Given the description of an element on the screen output the (x, y) to click on. 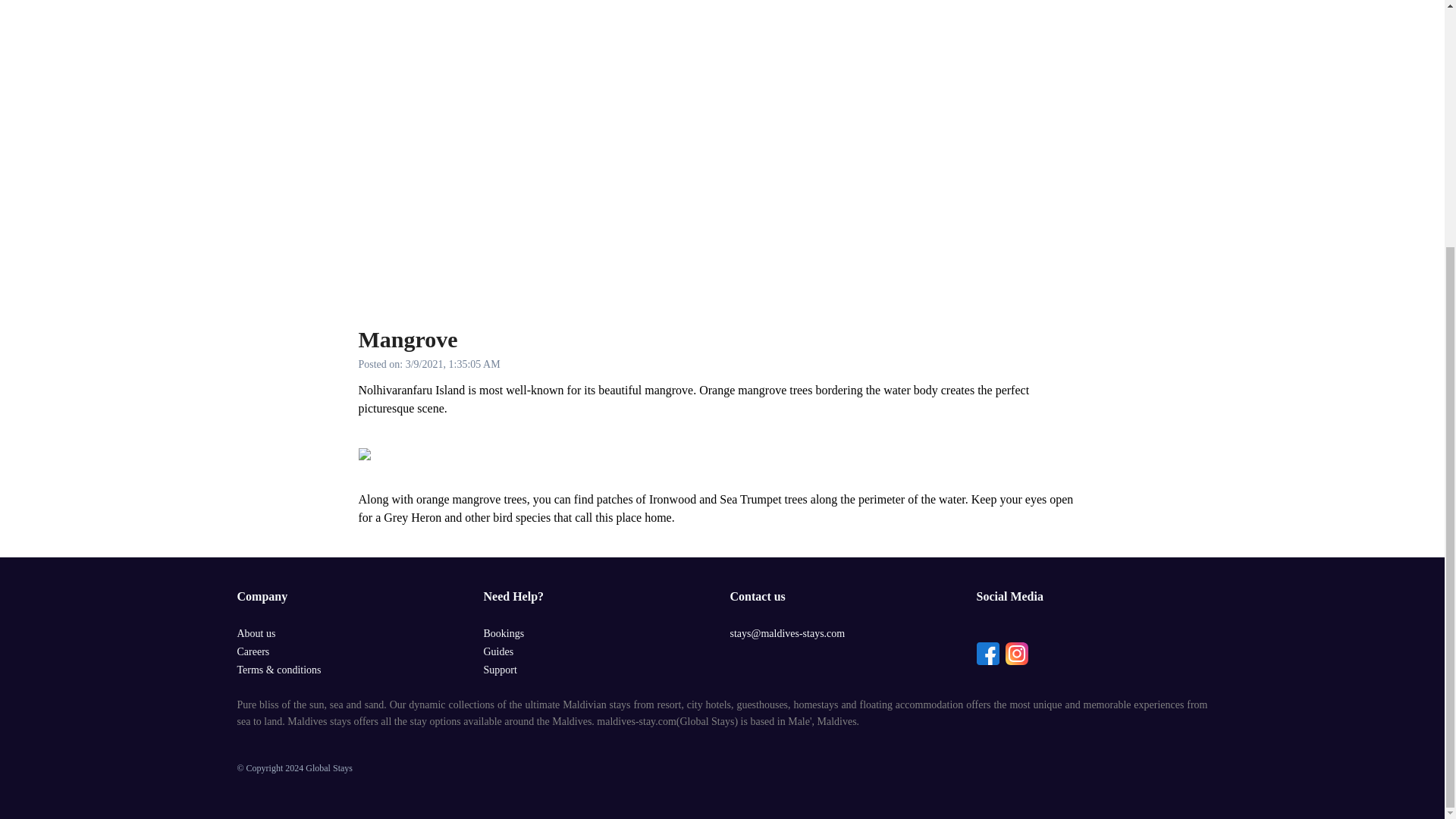
About us (255, 633)
maldives-stay.com (635, 721)
Follow us on instagram (1016, 652)
Bookings (503, 633)
Guides (498, 651)
Follow us on facebook (987, 652)
Support (499, 669)
Careers (252, 651)
